Given the description of an element on the screen output the (x, y) to click on. 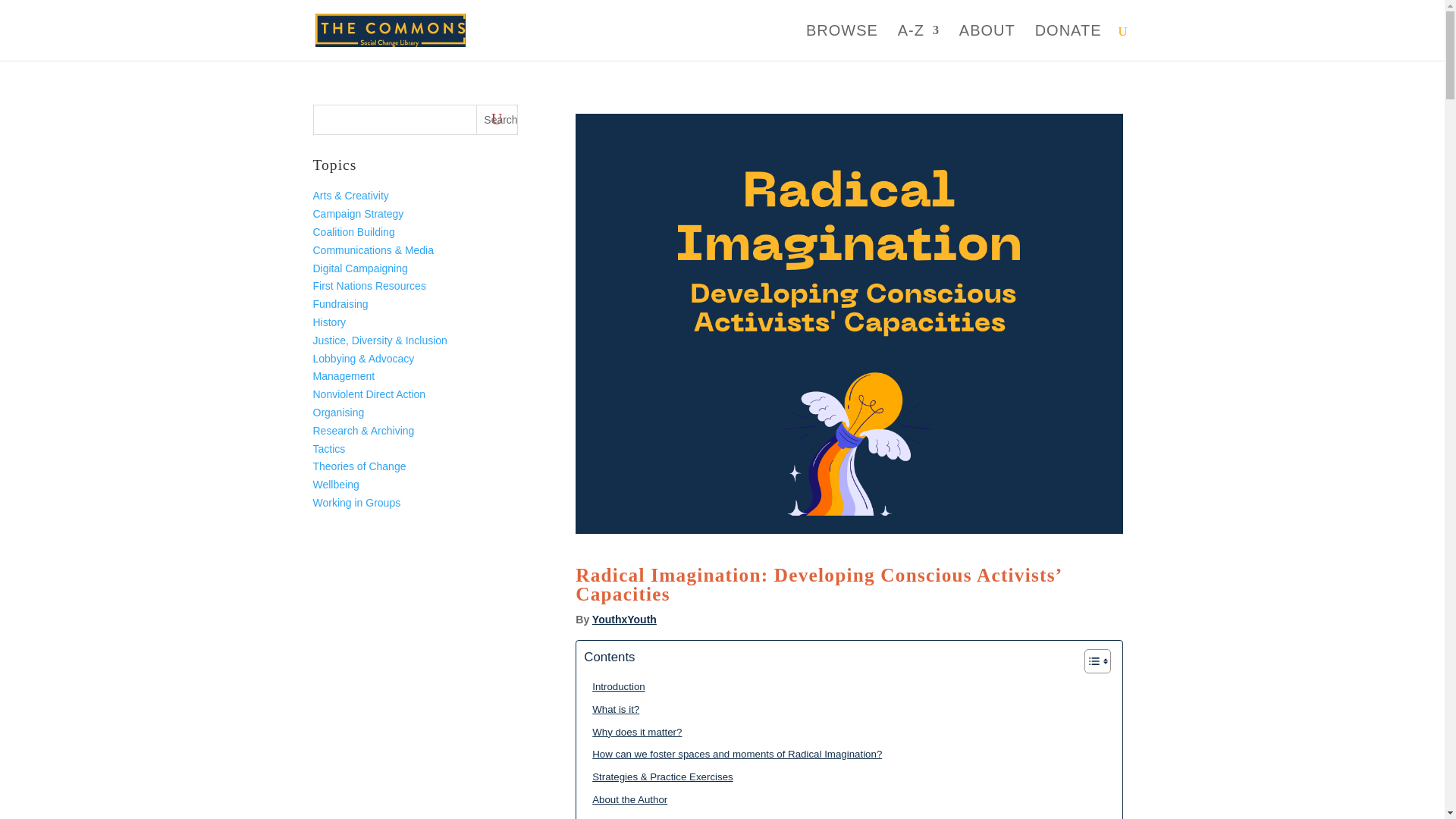
DONATE (1068, 42)
About the Author (624, 799)
Why does it matter? (632, 731)
A-Z (918, 42)
How can we foster spaces and moments of Radical Imagination? (732, 754)
About the Author (624, 799)
Search (497, 119)
Introduction (614, 686)
ABOUT (986, 42)
BROWSE (841, 42)
